Given the description of an element on the screen output the (x, y) to click on. 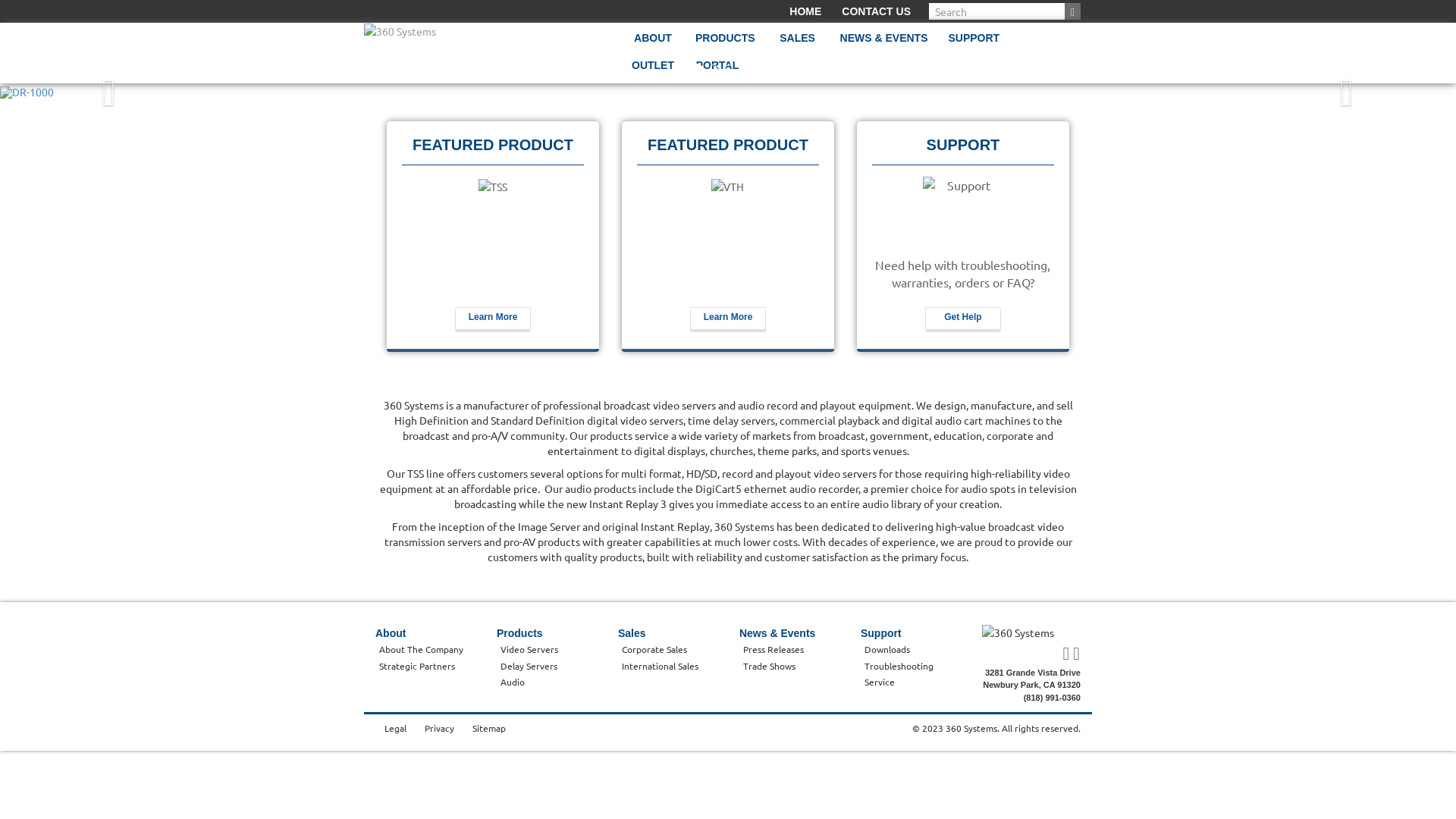
Strategic Partners Element type: text (417, 665)
Corporate Sales Element type: text (654, 649)
About The Company Element type: text (421, 649)
360 Systems Element type: hover (400, 30)
SUPPORT Element type: text (973, 43)
Legal Element type: text (395, 727)
International Sales Element type: text (659, 665)
Support Element type: text (880, 633)
PRODUCTS Element type: text (725, 43)
Privacy Element type: text (439, 727)
OUTLET Element type: text (652, 70)
Troubleshooting Element type: text (898, 665)
FEATURED PRODUCT
Learn More
  Element type: text (727, 236)
ABOUT Element type: text (652, 43)
CONTACT US Element type: text (875, 11)
PORTAL Element type: text (717, 70)
About Element type: text (390, 633)
Trade Shows Element type: text (769, 665)
Service Element type: text (879, 681)
Delay Servers Element type: text (528, 665)
Video Servers Element type: text (529, 649)
HOME Element type: text (805, 11)
SALES Element type: text (797, 43)
Sales Element type: text (632, 633)
FEATURED PRODUCT
Learn More
  Element type: text (492, 236)
NEWS & EVENTS Element type: text (884, 43)
Downloads Element type: text (887, 649)
Press Releases Element type: text (773, 649)
360 Systems Element type: hover (1031, 632)
Sitemap Element type: text (488, 727)
Products Element type: text (519, 633)
Audio Element type: text (512, 681)
News & Events Element type: text (777, 633)
